Given the description of an element on the screen output the (x, y) to click on. 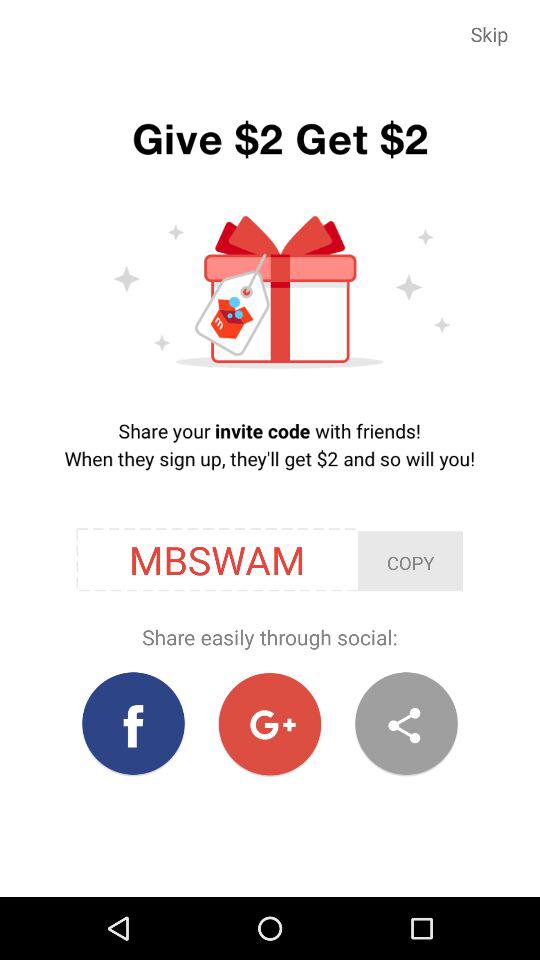
share invite code to facebook (133, 724)
